Given the description of an element on the screen output the (x, y) to click on. 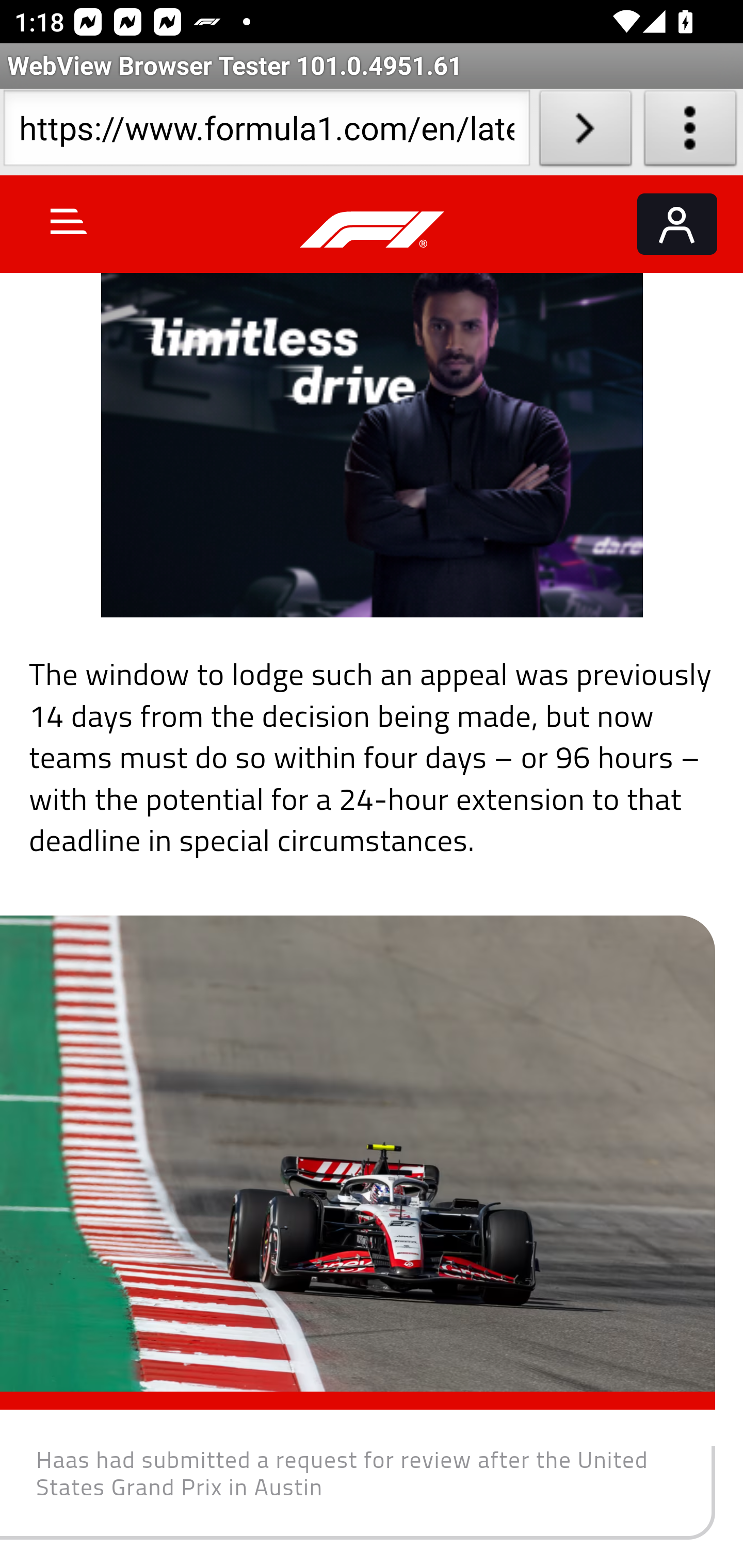
Load URL (585, 132)
About WebView (690, 132)
